Given the description of an element on the screen output the (x, y) to click on. 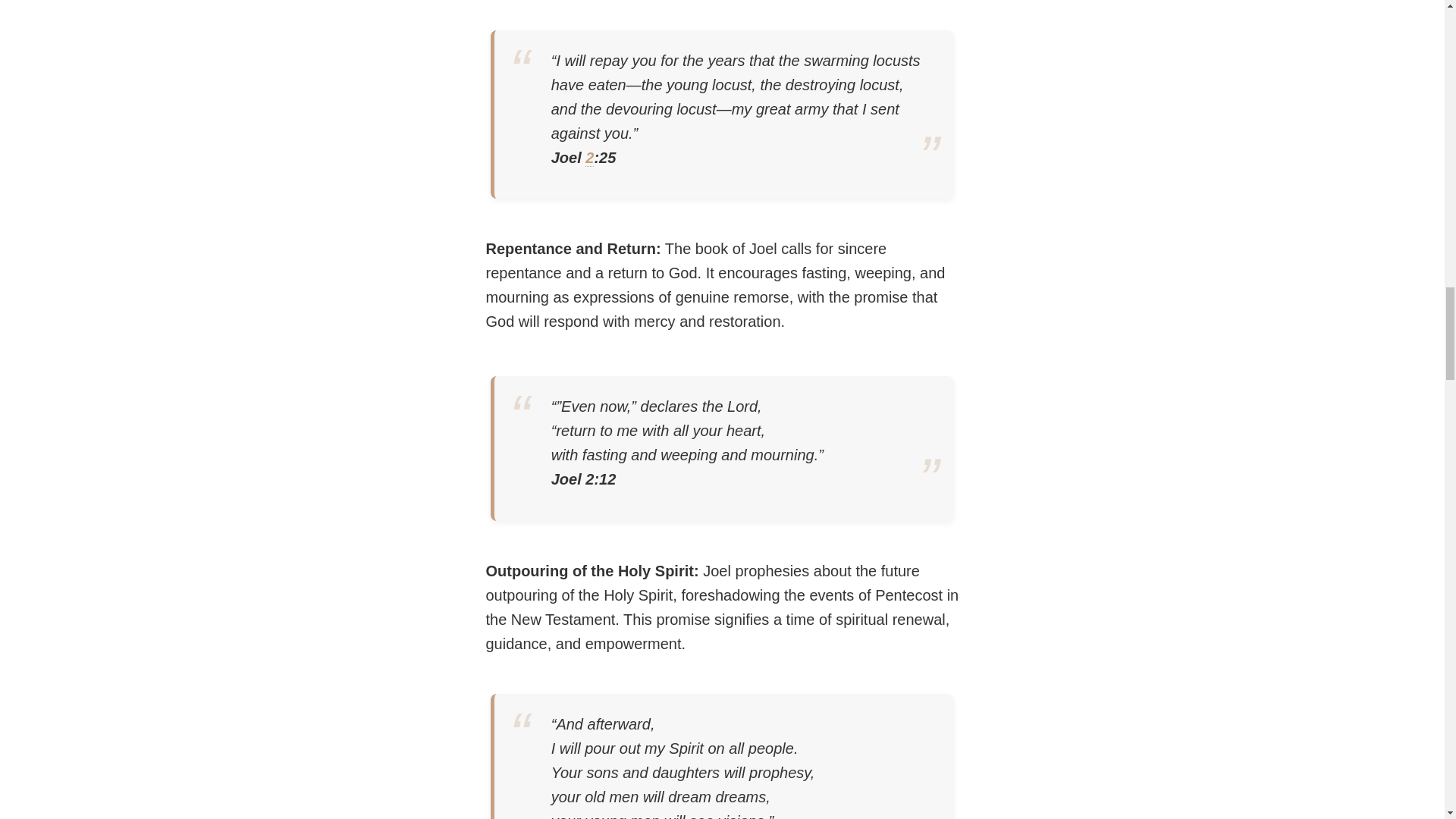
2 (589, 158)
2 (589, 158)
